Given the description of an element on the screen output the (x, y) to click on. 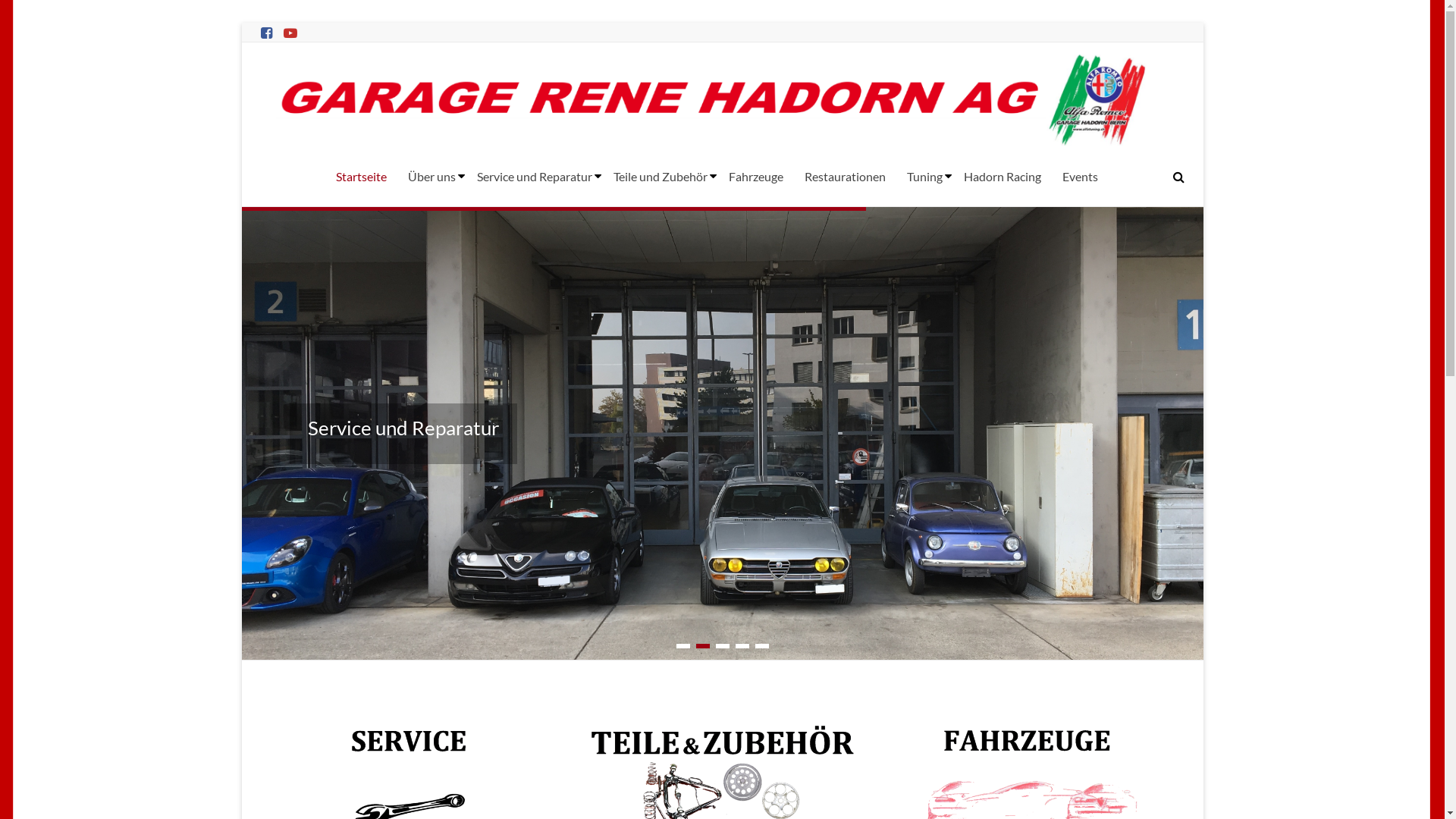
Tuning Element type: text (924, 176)
Service und Reparatur Element type: text (533, 176)
Service und Reparatur Element type: text (402, 427)
Startseite Element type: text (360, 176)
Events Element type: text (1079, 176)
Restaurationen Element type: text (843, 176)
Hadorn Racing Element type: text (1001, 176)
Fahrzeuge Element type: text (755, 176)
Skip to content Element type: text (241, 21)
